Given the description of an element on the screen output the (x, y) to click on. 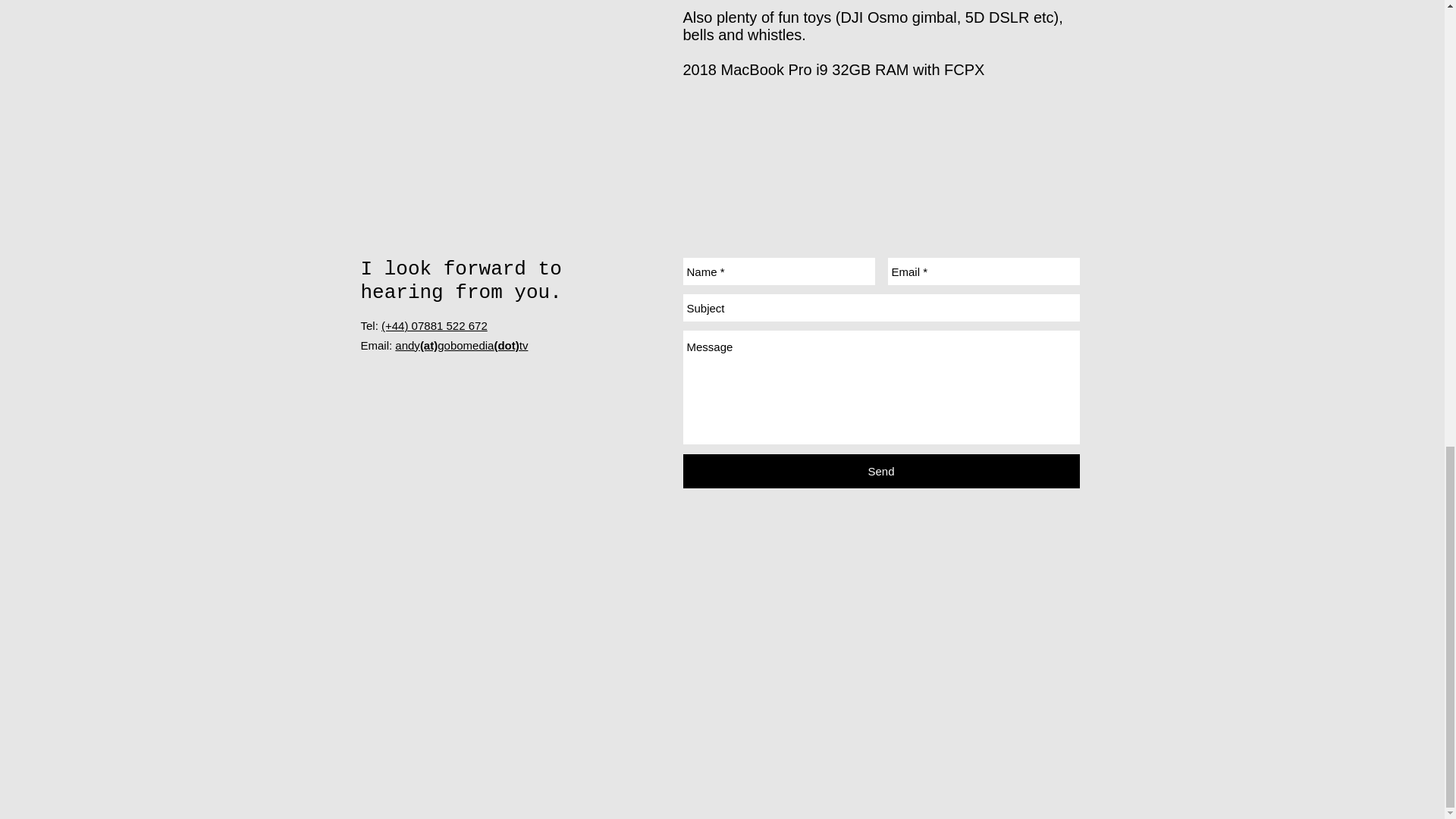
Send (880, 471)
